Given the description of an element on the screen output the (x, y) to click on. 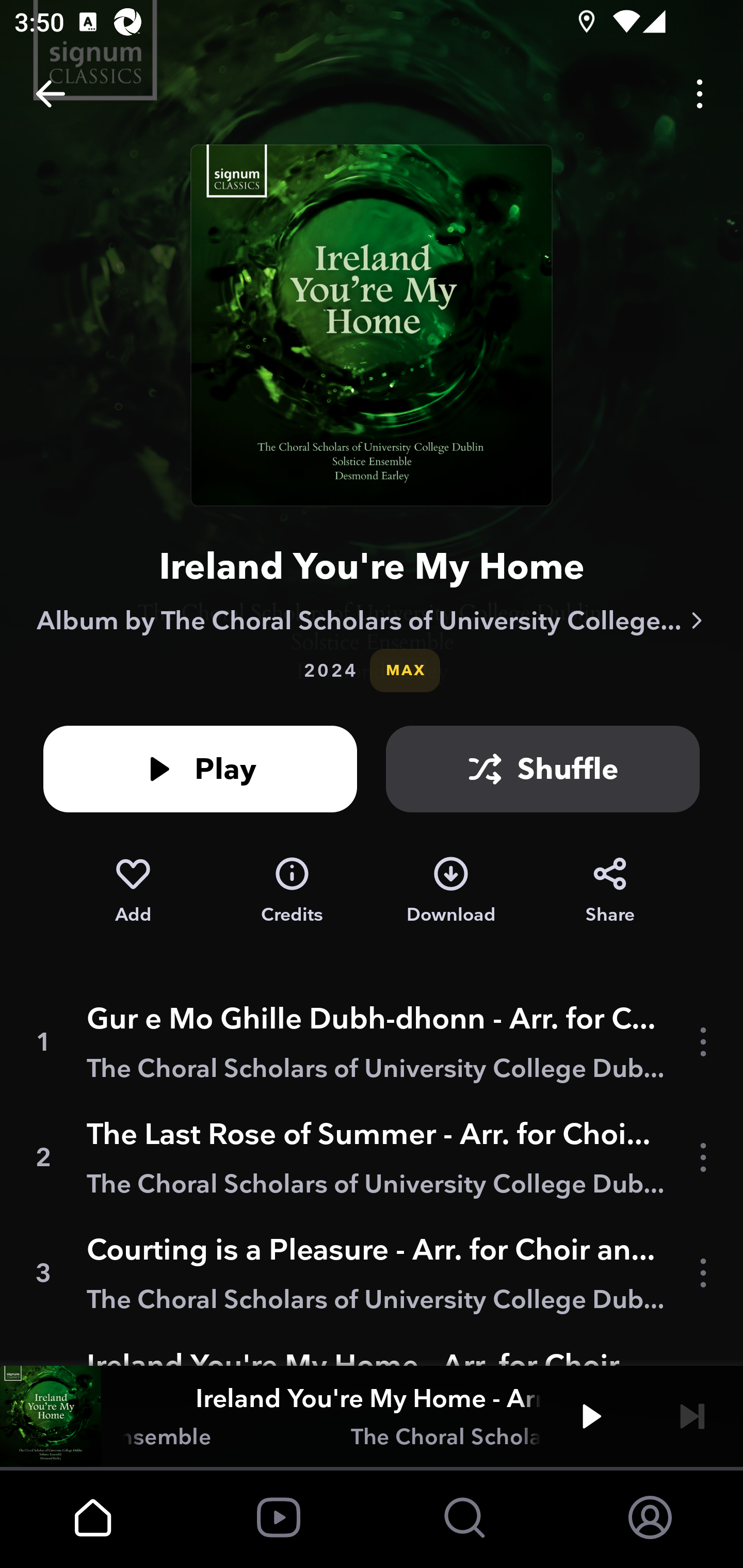
Options (699, 93)
Ireland You're My Home (371, 565)
Play (200, 768)
Shuffle (542, 768)
Add to My Collection Add (132, 890)
Credits (291, 890)
Download (450, 890)
Share (609, 890)
Play (590, 1416)
